Given the description of an element on the screen output the (x, y) to click on. 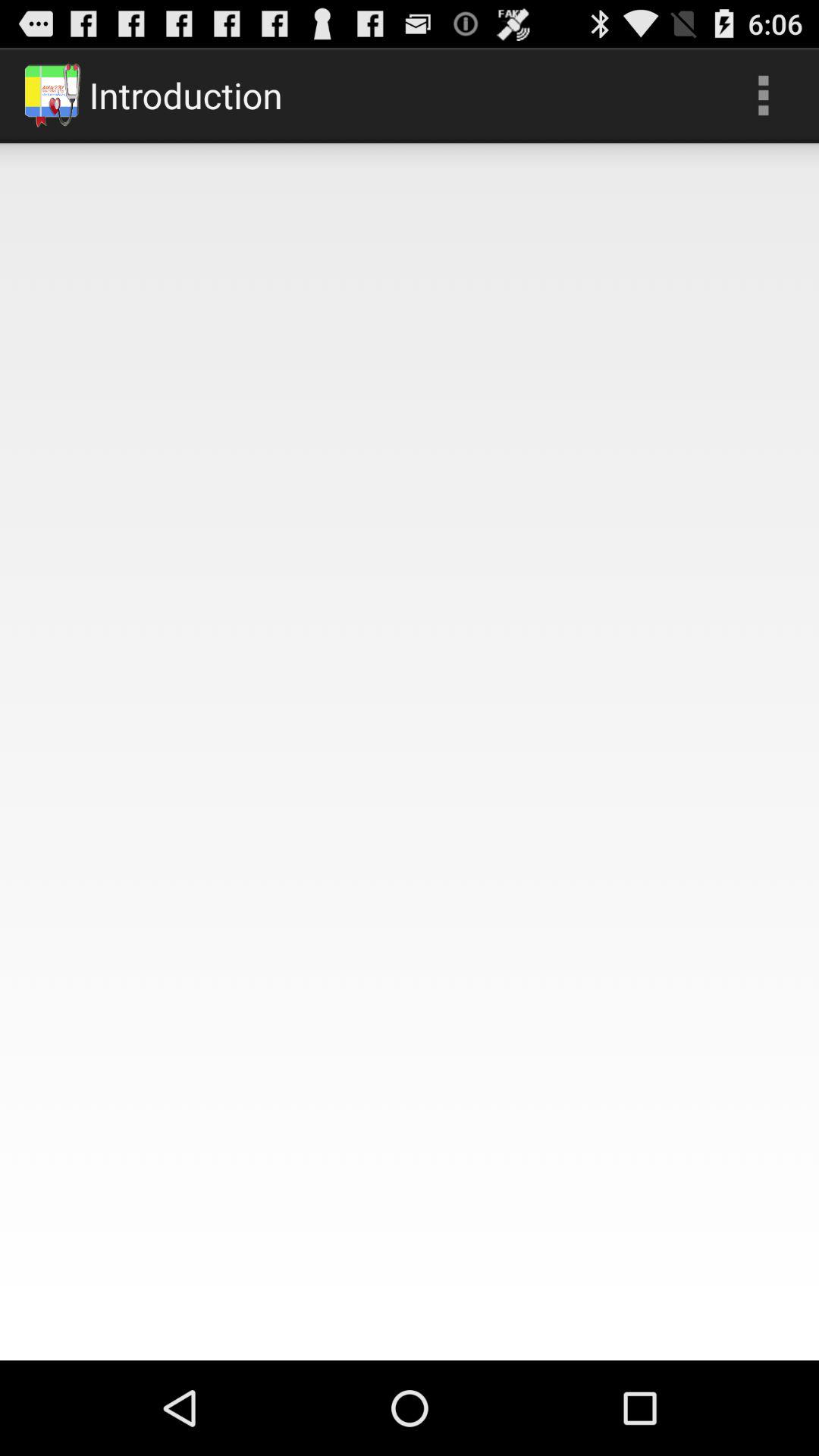
click icon next to the introduction app (763, 95)
